Given the description of an element on the screen output the (x, y) to click on. 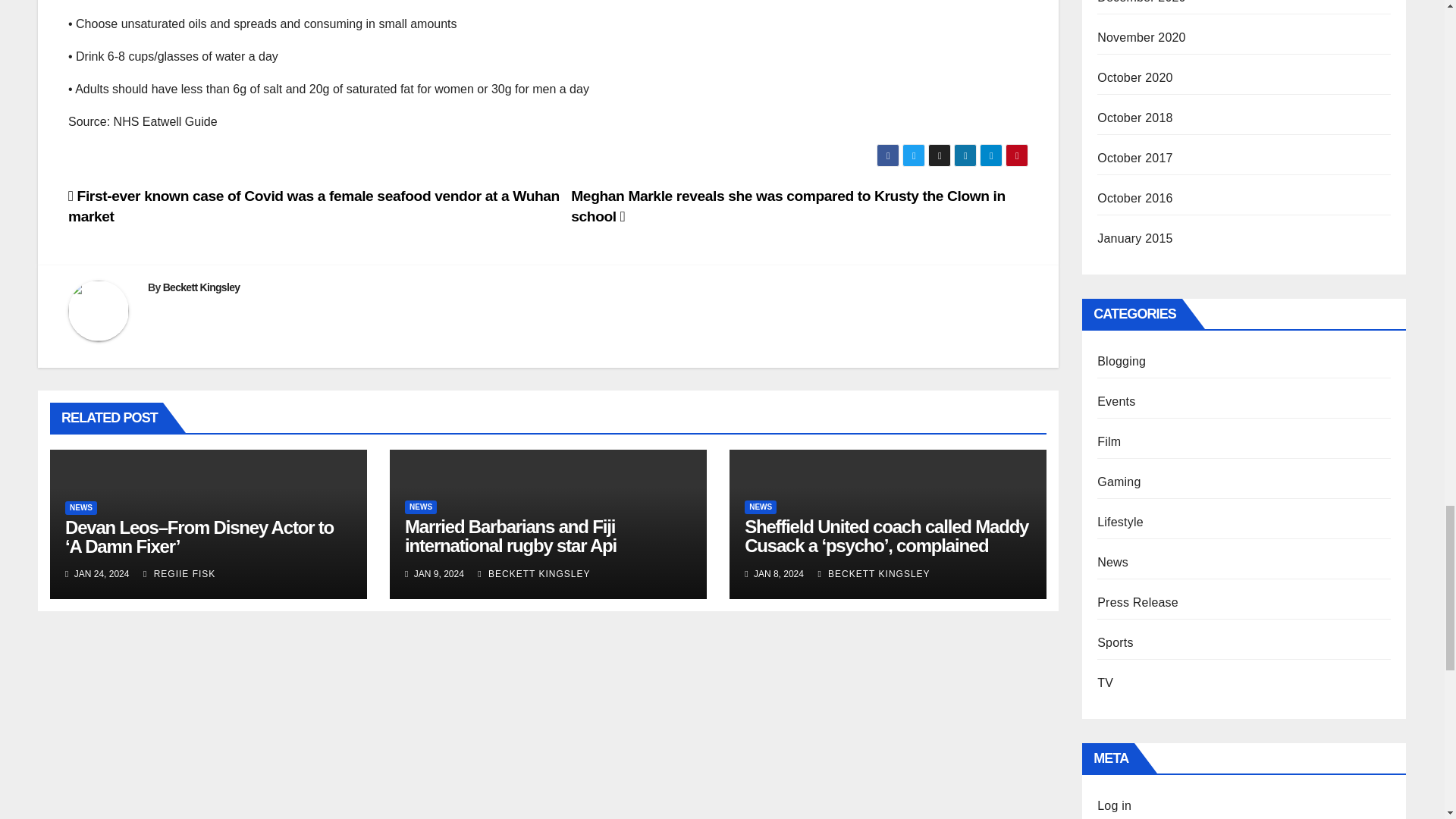
BECKETT KINGSLEY (873, 573)
REGIIE FISK (178, 573)
NEWS (760, 507)
NEWS (81, 508)
BECKETT KINGSLEY (533, 573)
Beckett Kingsley (201, 287)
NEWS (420, 507)
